Given the description of an element on the screen output the (x, y) to click on. 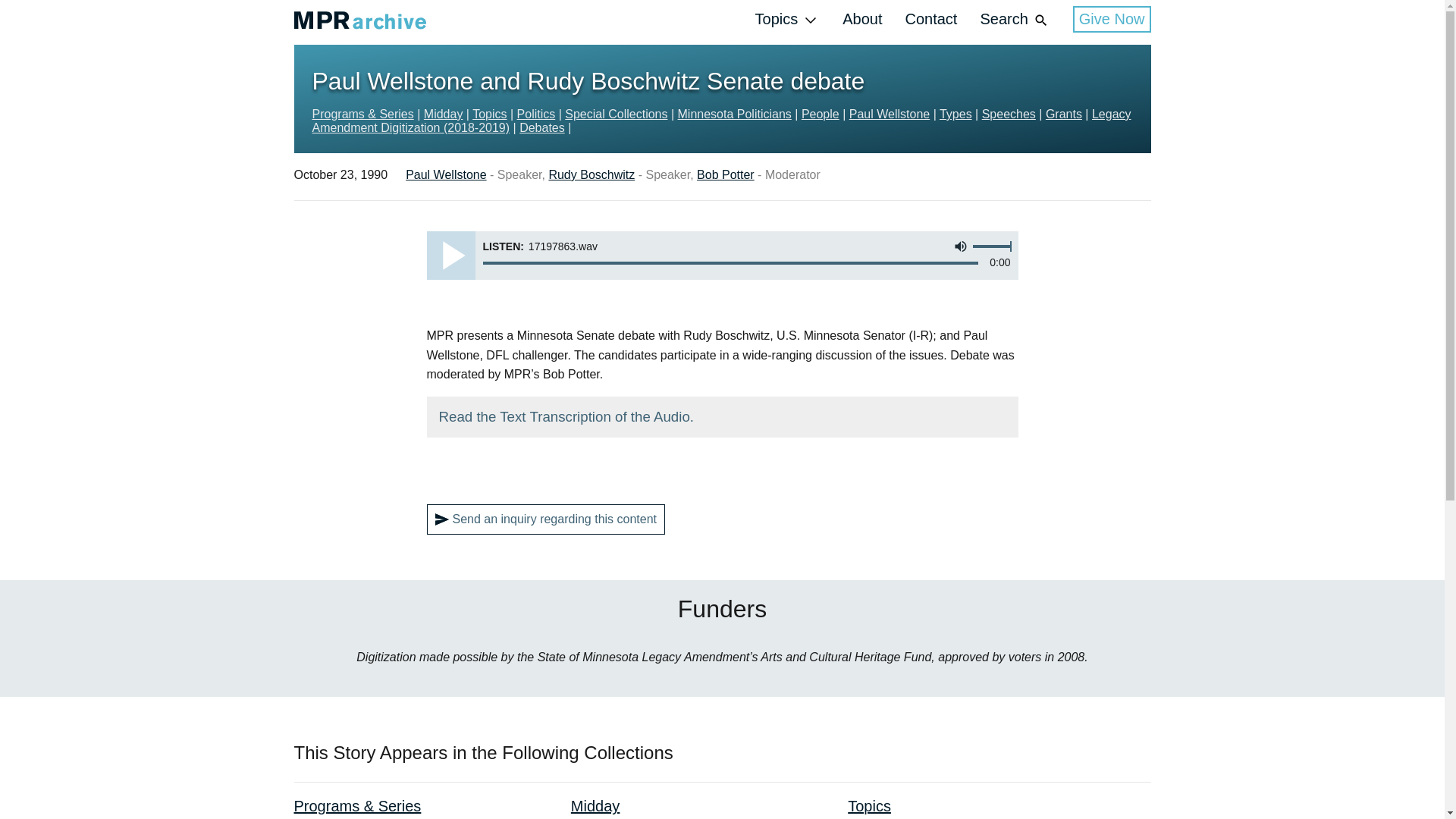
Topics (788, 20)
